Given the description of an element on the screen output the (x, y) to click on. 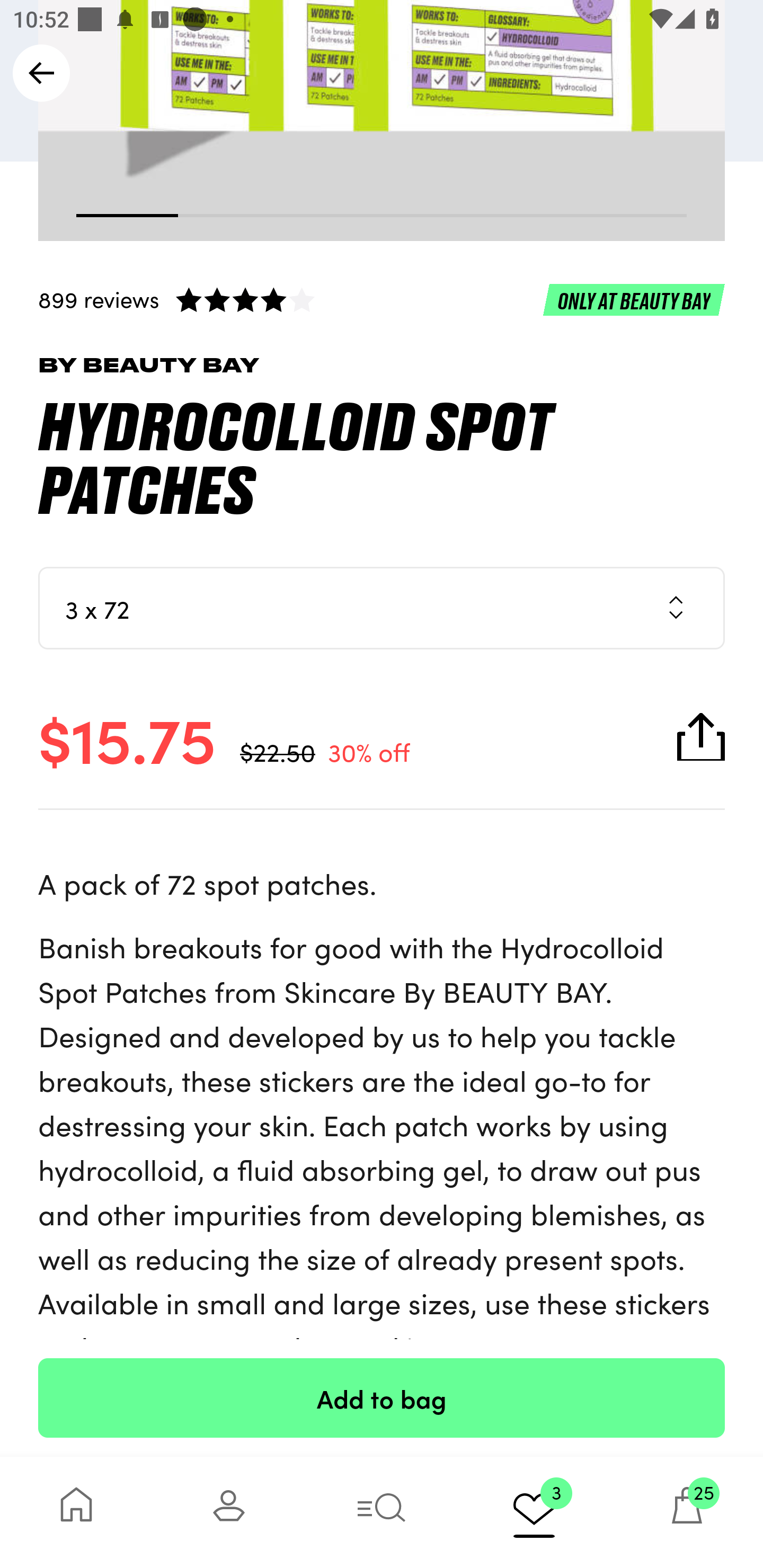
899 reviews (381, 298)
3 x 72    (381, 607)
Add to bag (381, 1397)
3 (533, 1512)
25 (686, 1512)
